Given the description of an element on the screen output the (x, y) to click on. 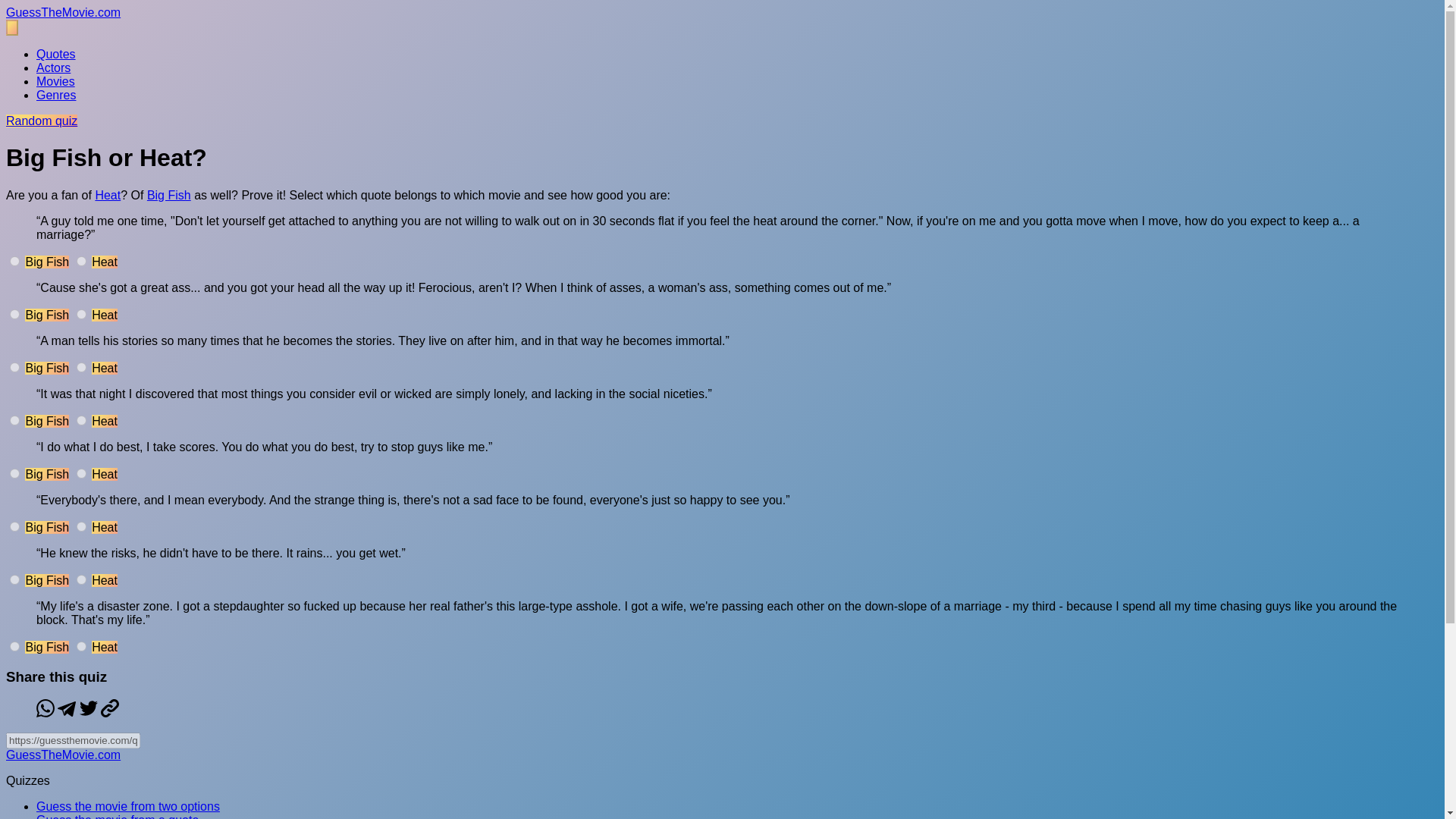
on (15, 314)
on (15, 367)
Guess the movie from a quote (117, 816)
on (81, 646)
Random quiz (41, 120)
on (81, 367)
Heat (107, 195)
on (81, 526)
on (15, 473)
Quotes (55, 53)
